Given the description of an element on the screen output the (x, y) to click on. 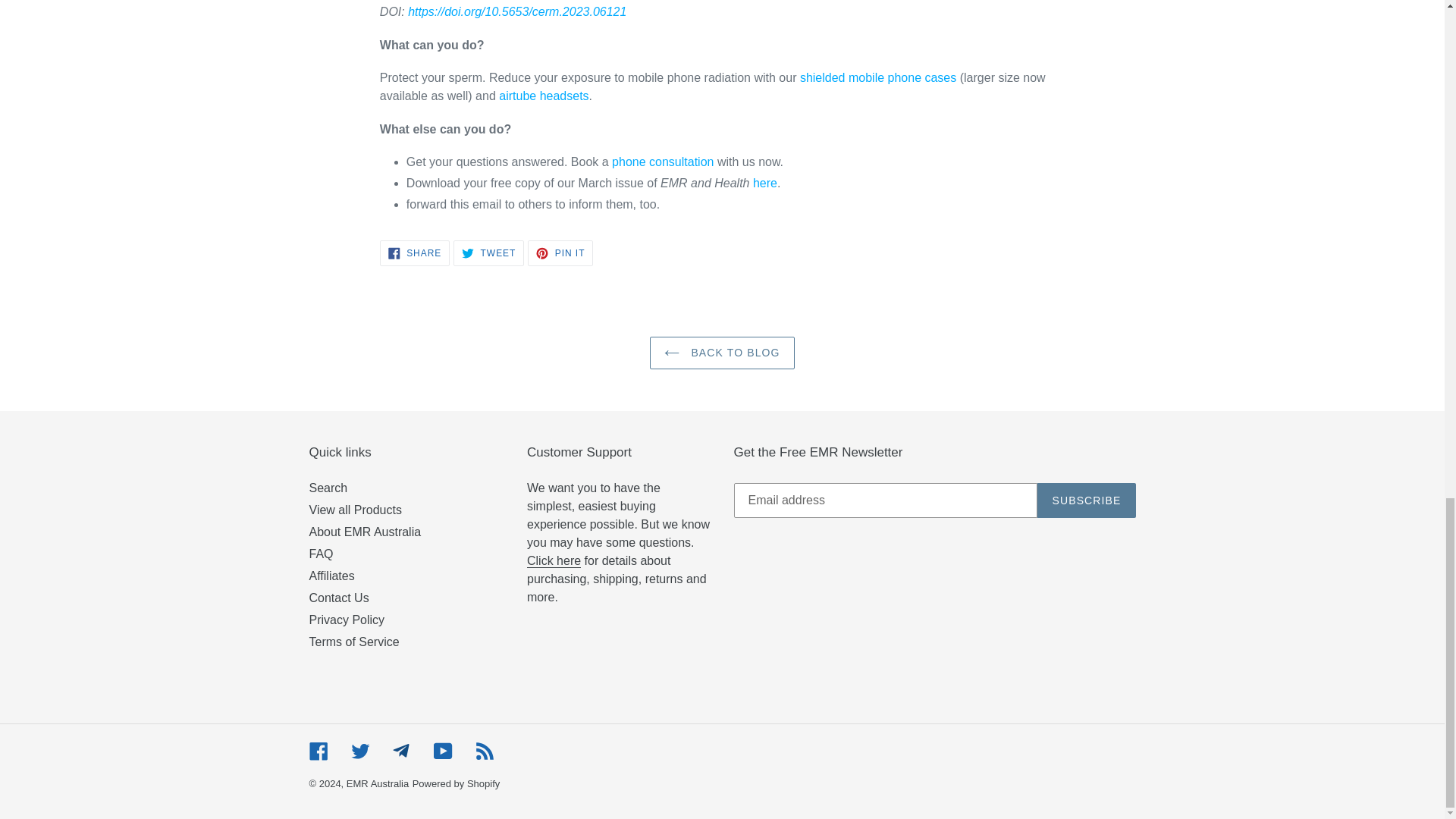
Customer Support (553, 561)
